Given the description of an element on the screen output the (x, y) to click on. 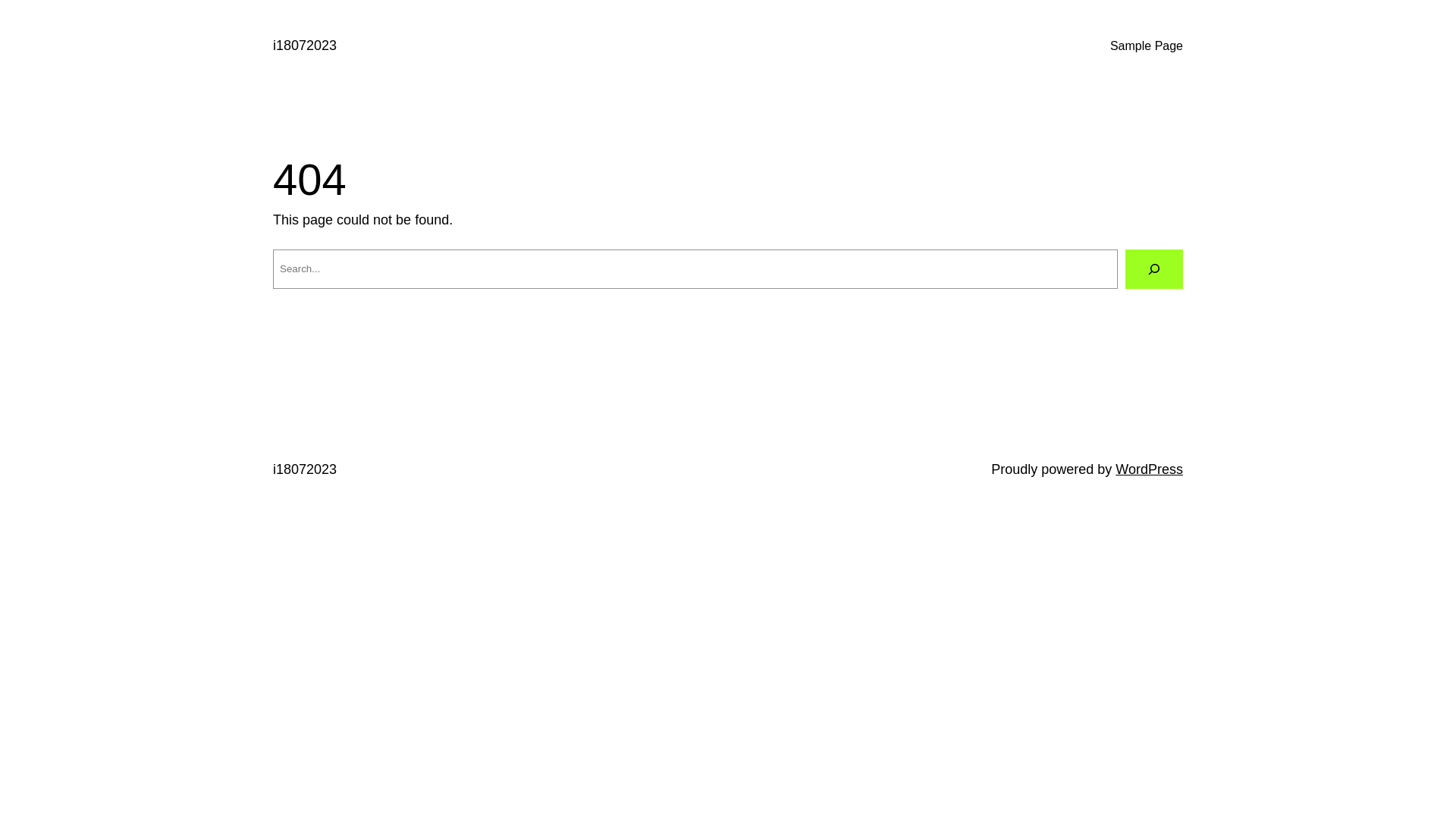
i18072023 Element type: text (304, 45)
Sample Page Element type: text (1146, 46)
i18072023 Element type: text (304, 468)
WordPress Element type: text (1149, 468)
